Given the description of an element on the screen output the (x, y) to click on. 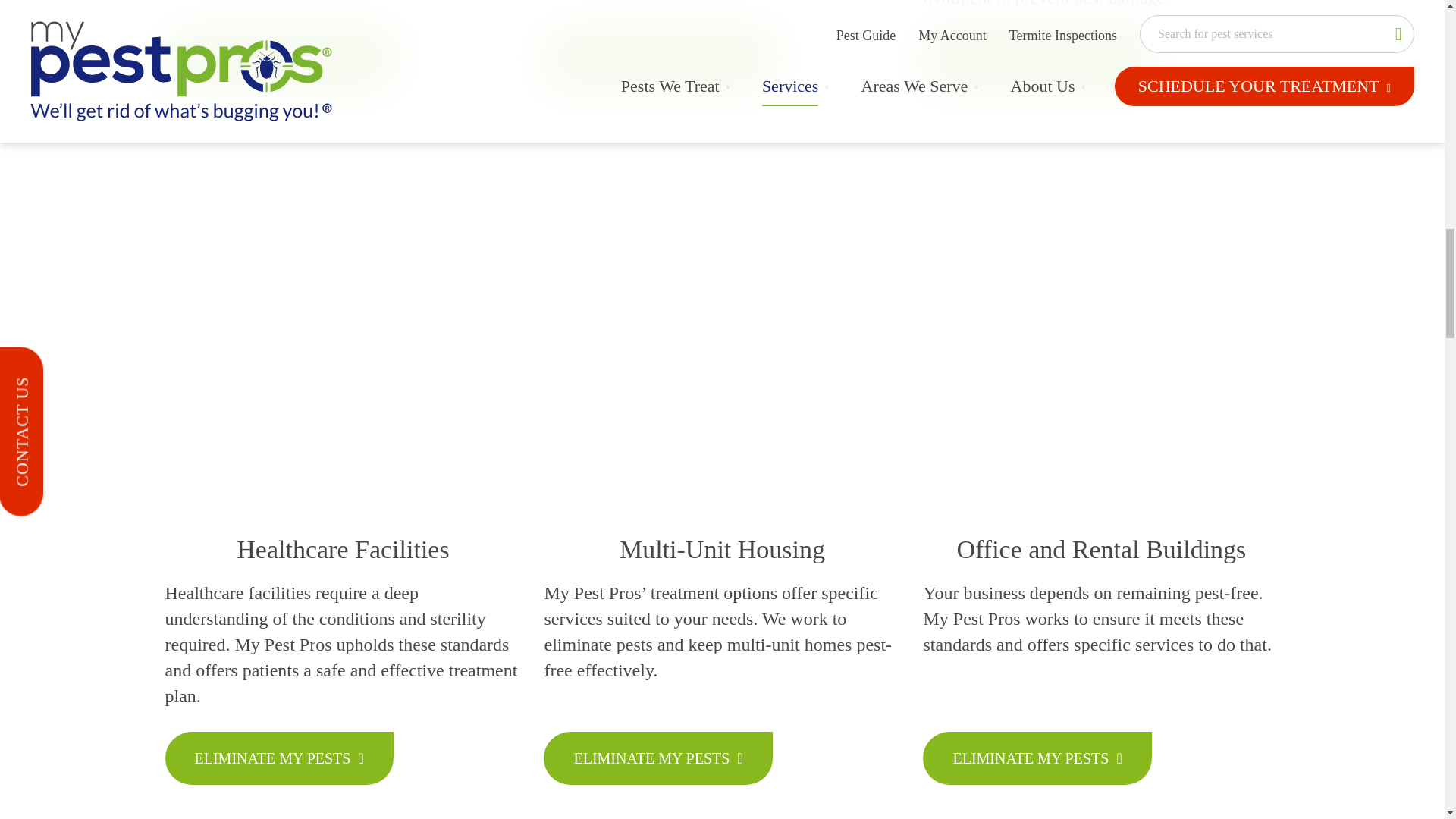
pest control for healthcare facilities (343, 336)
pest control for multi unit housing (721, 336)
pest control for office and rental buildings (1101, 336)
